Given the description of an element on the screen output the (x, y) to click on. 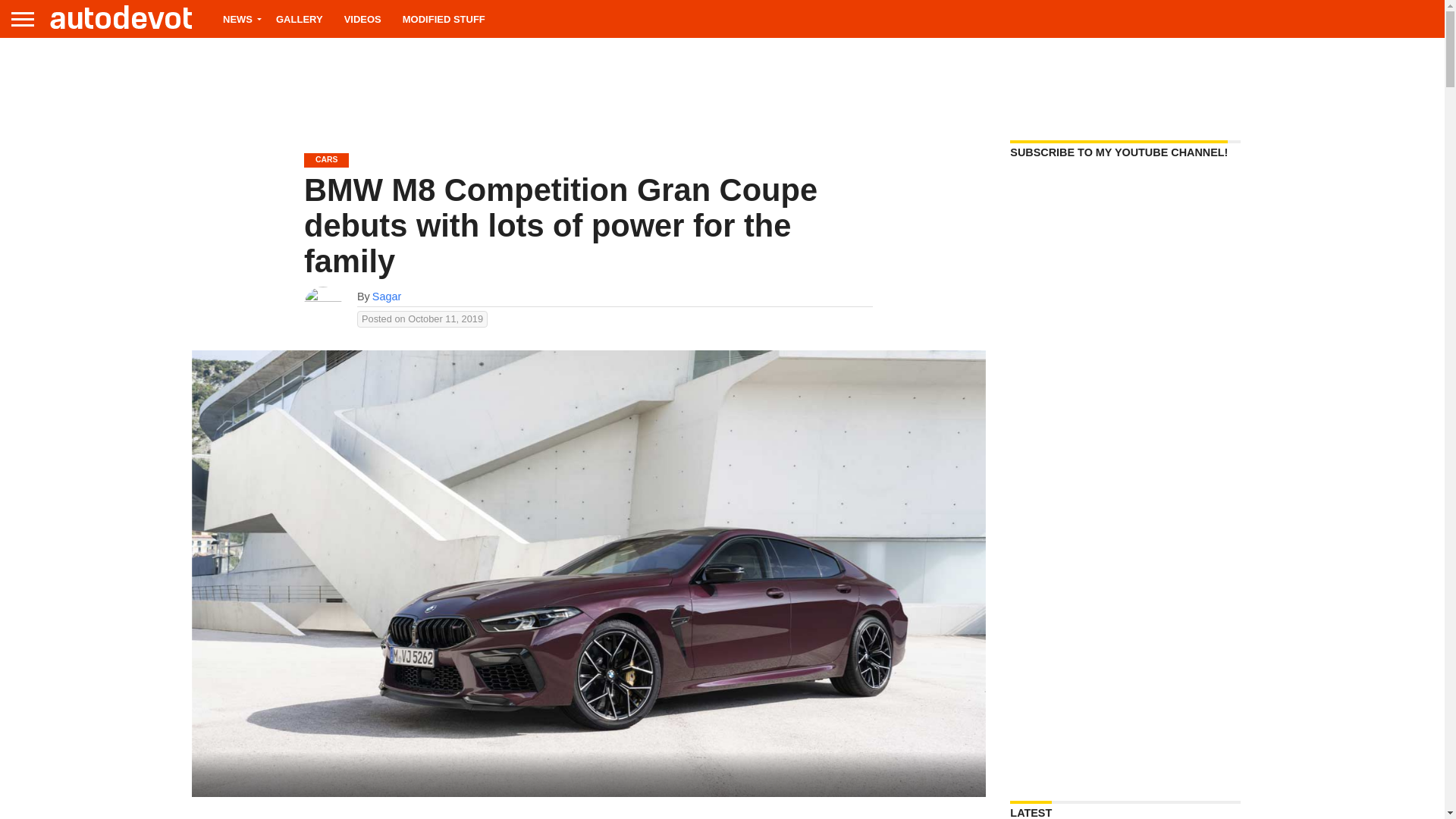
NEWS (238, 18)
GALLERY (298, 18)
Advertisement (721, 83)
Posts by Sagar (386, 296)
